Given the description of an element on the screen output the (x, y) to click on. 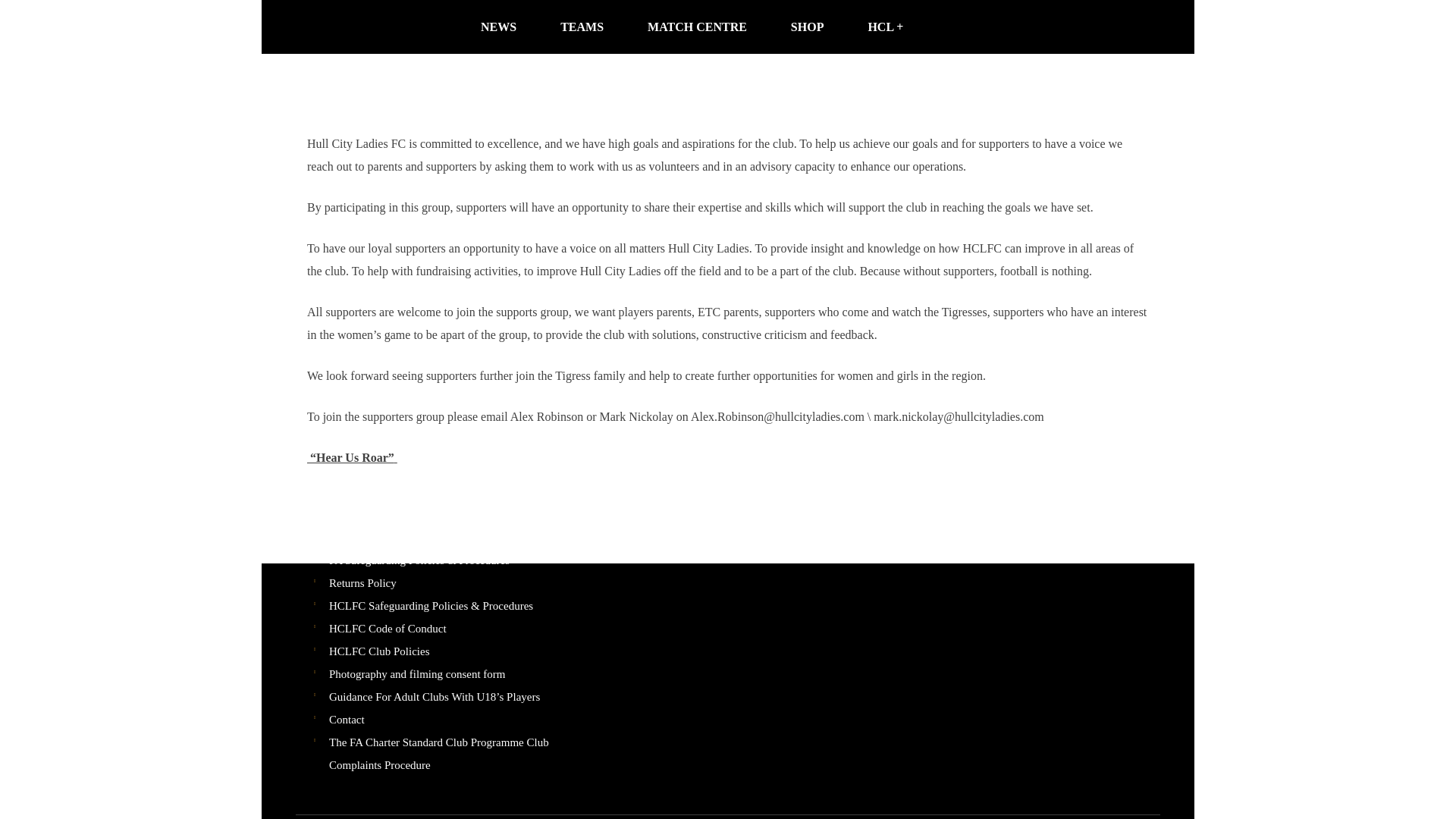
NEWS (498, 27)
SHOP (806, 27)
TEAMS (582, 27)
MATCH CENTRE (697, 27)
